Given the description of an element on the screen output the (x, y) to click on. 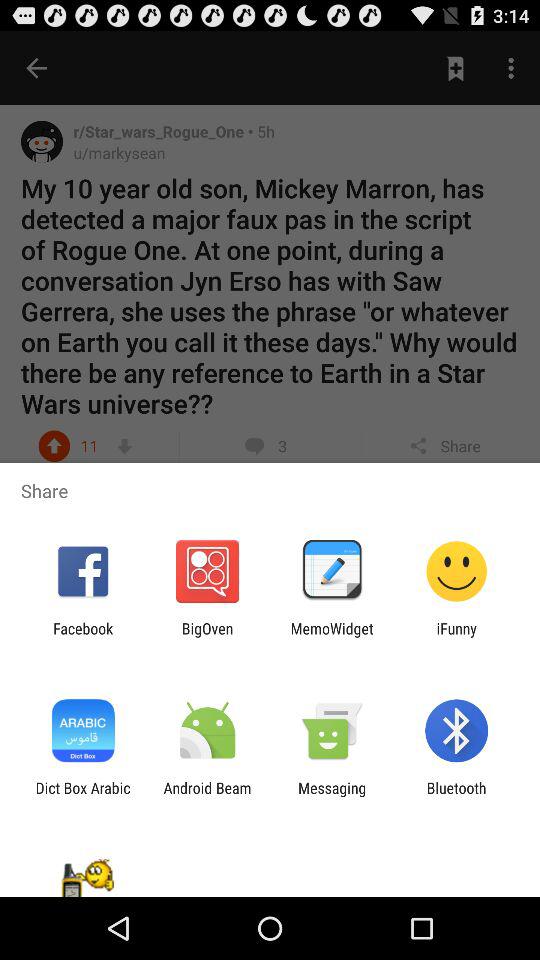
jump to ifunny (456, 637)
